Given the description of an element on the screen output the (x, y) to click on. 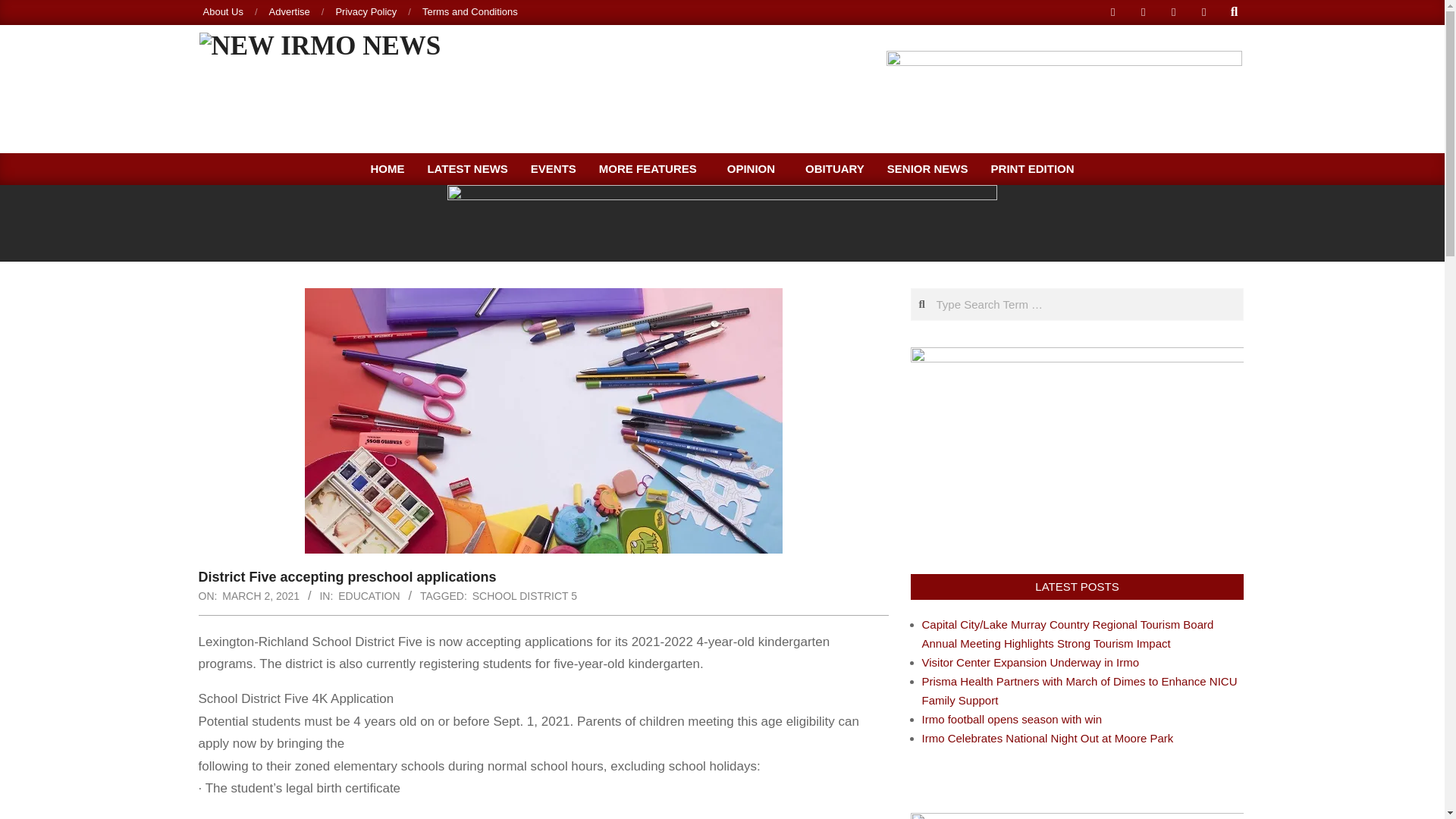
SENIOR NEWS (927, 169)
OBITUARY (834, 169)
EDUCATION (367, 595)
Search (24, 9)
Privacy Policy (365, 11)
LATEST NEWS (466, 169)
EVENTS (553, 169)
About Us (223, 11)
Advertise (289, 11)
SCHOOL DISTRICT 5 (523, 595)
